Given the description of an element on the screen output the (x, y) to click on. 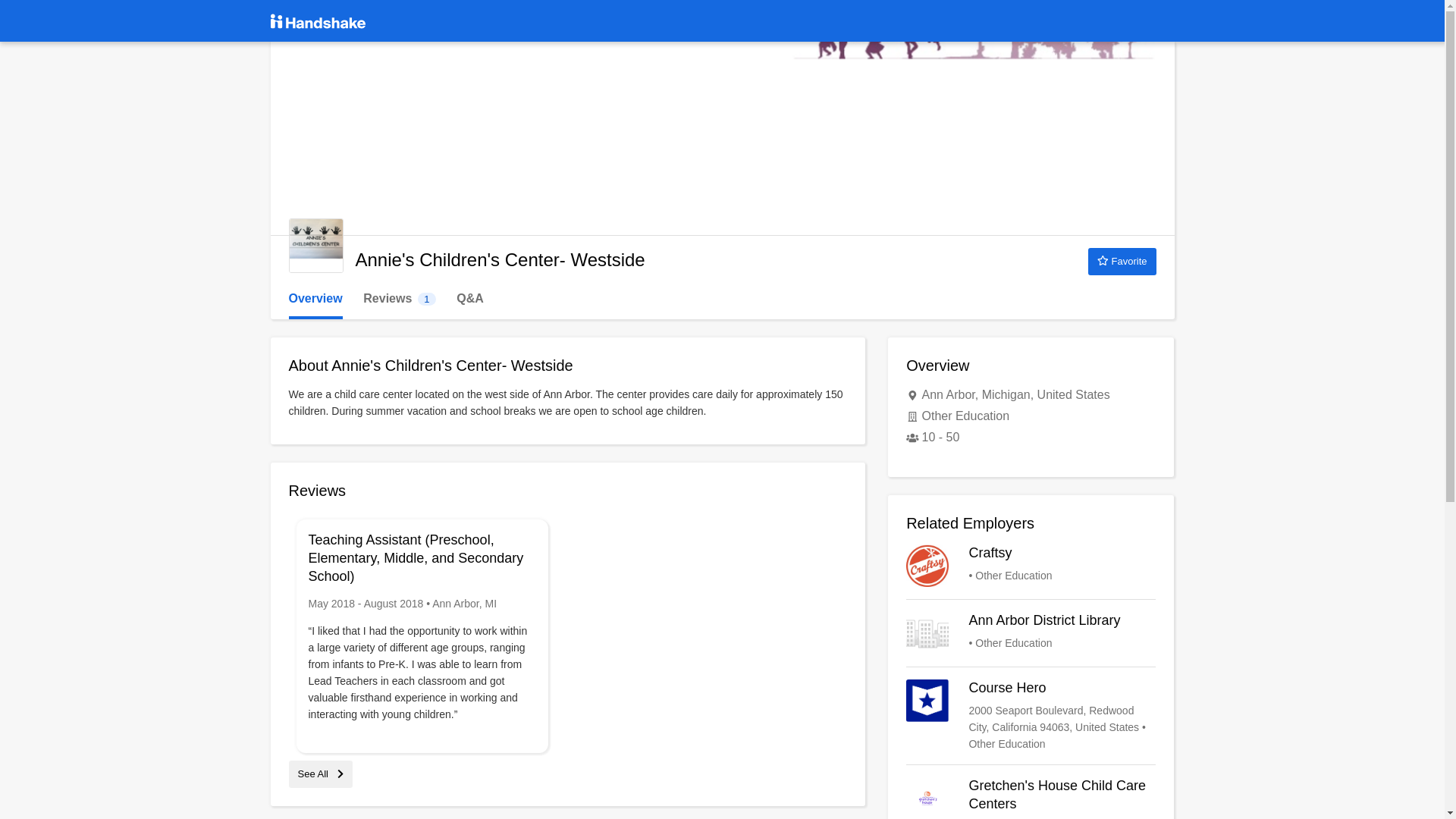
Course Hero (1030, 715)
Ann Arbor District Library (1030, 632)
Gretchen's House Child Care Centers (1030, 798)
Overview (315, 298)
Annie's Children's Center- Westside (315, 245)
Favorite (1121, 261)
See All (320, 773)
Craftsy (398, 298)
